Given the description of an element on the screen output the (x, y) to click on. 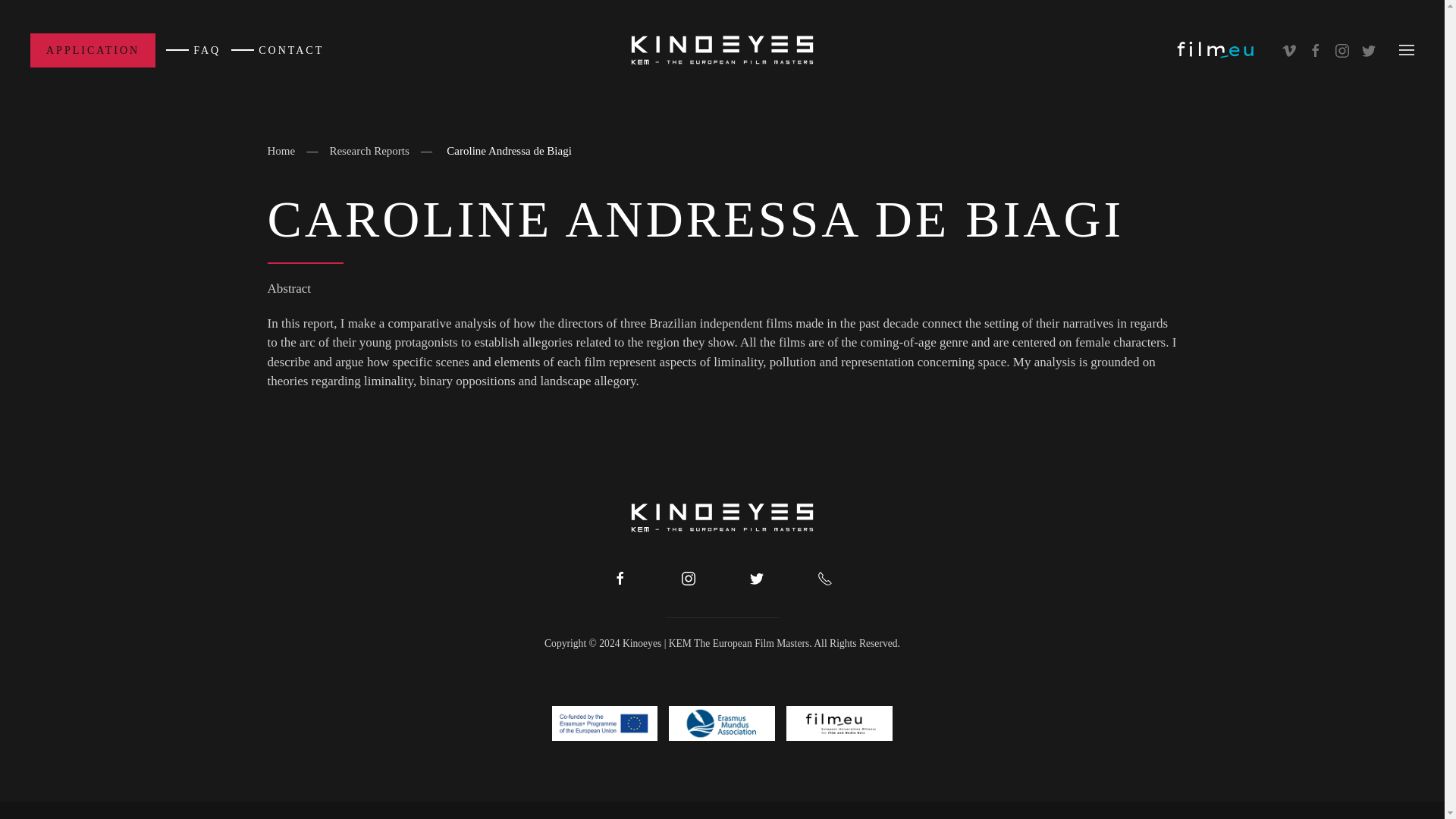
CONTACT (277, 50)
FAQ (193, 50)
CAROLINE ANDRESSA DE BIAGI (721, 219)
APPLICATION (92, 50)
apply (92, 50)
